Given the description of an element on the screen output the (x, y) to click on. 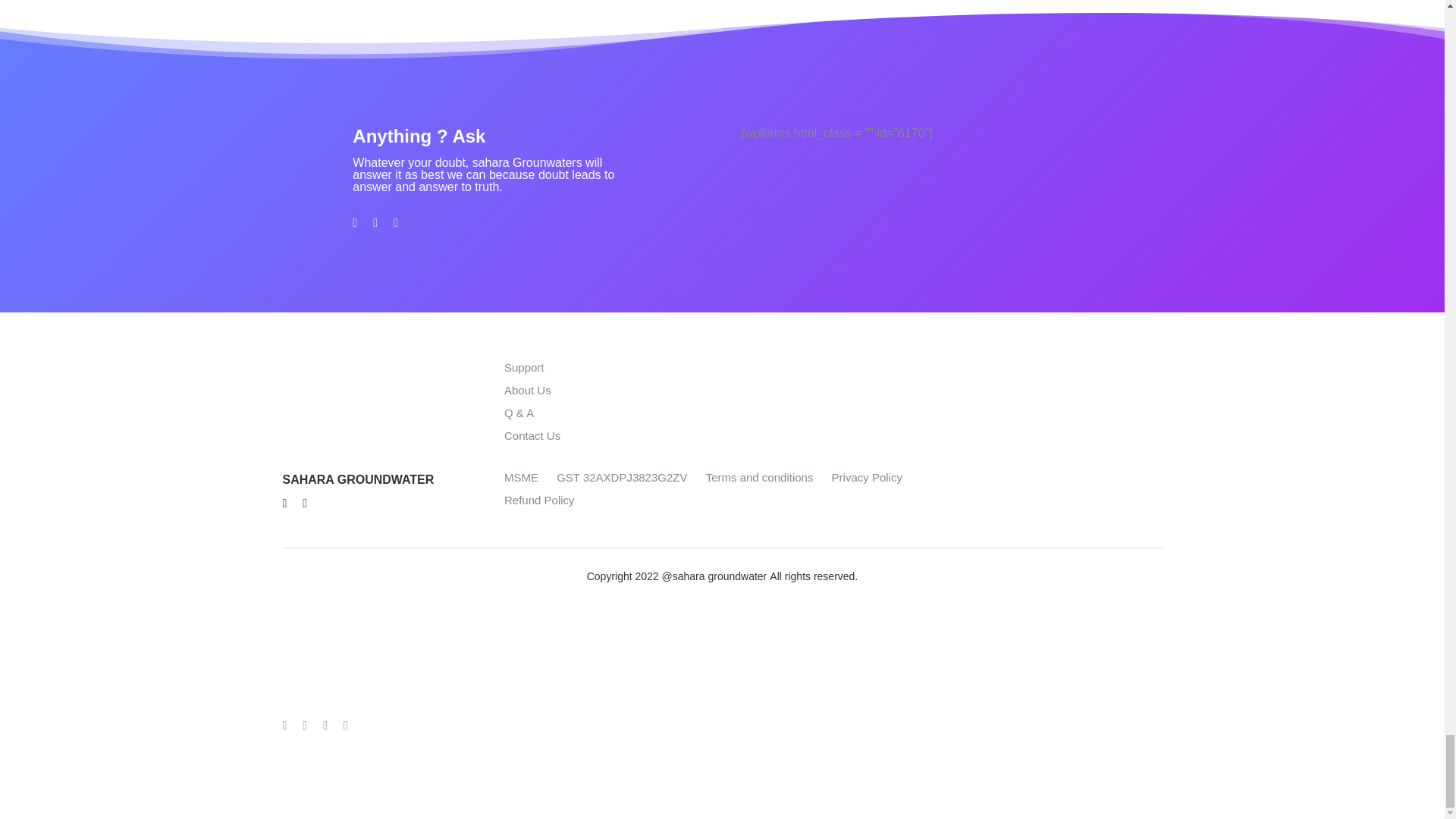
Terms and conditions (759, 477)
Contact Us (531, 435)
Privacy Policy (866, 477)
Refund Policy (539, 499)
GST 32AXDPJ3823G2ZV (621, 477)
About Us (527, 390)
Support (523, 367)
MSME (520, 477)
